Given the description of an element on the screen output the (x, y) to click on. 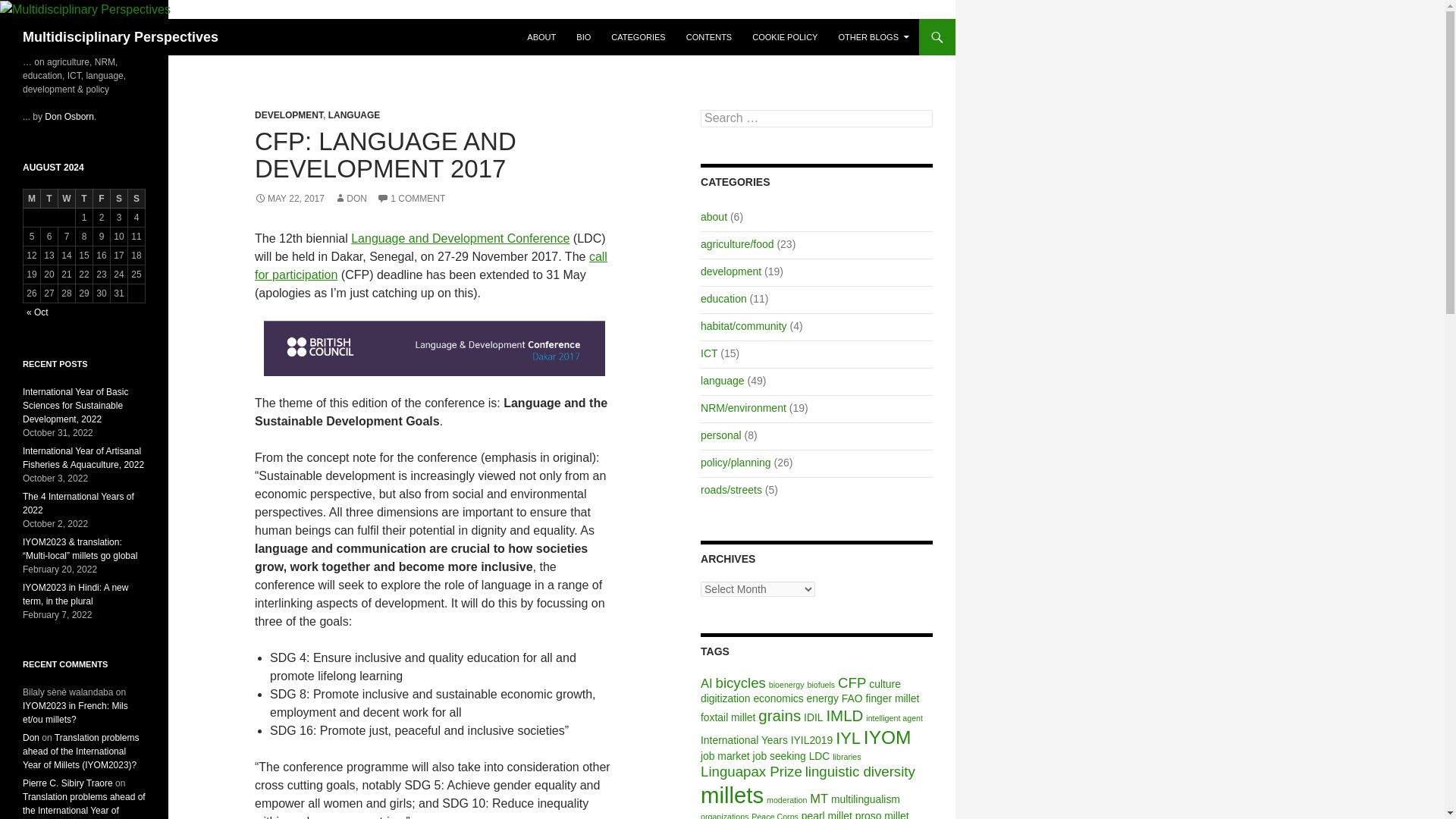
ABOUT (541, 36)
Multidisciplinary Perspectives (120, 36)
BIO (583, 36)
OTHER BLOGS (873, 36)
COOKIE POLICY (784, 36)
CONTENTS (709, 36)
CATEGORIES (638, 36)
